Given the description of an element on the screen output the (x, y) to click on. 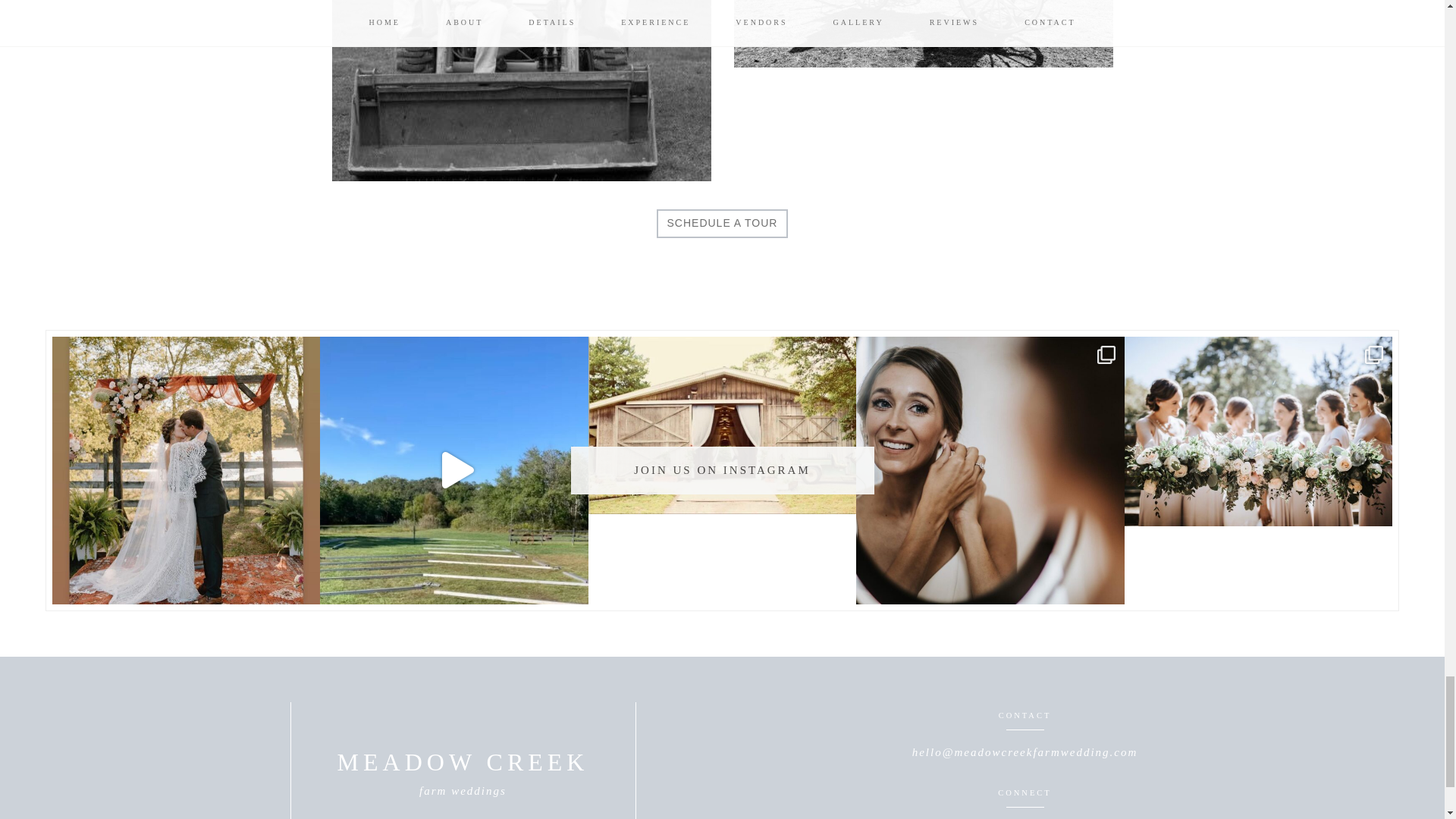
SCHEDULE A TOUR (722, 223)
